Given the description of an element on the screen output the (x, y) to click on. 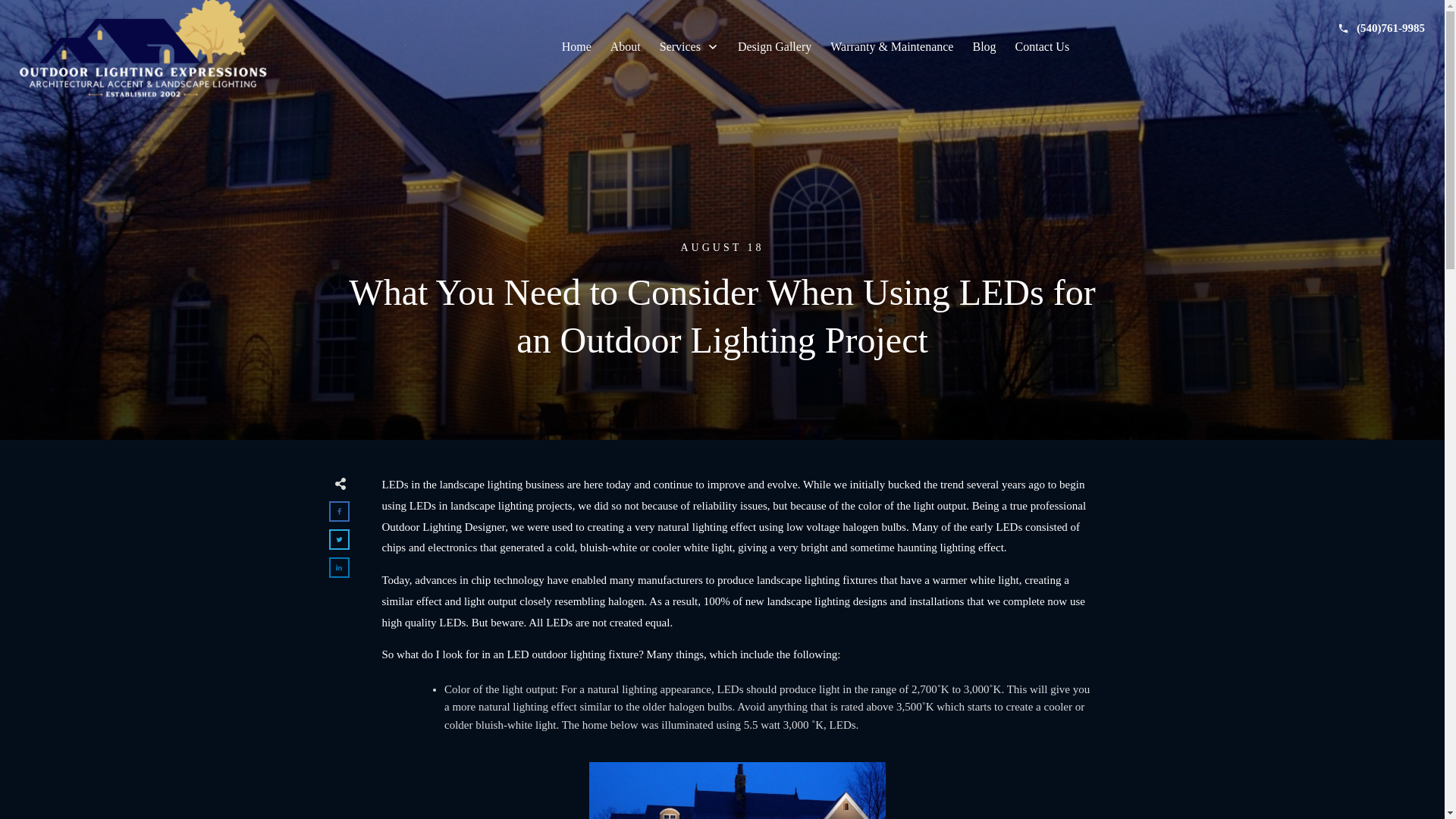
Contact Us (1042, 46)
Blog (983, 46)
Davenport House Demo Jan 9 2012 (737, 790)
Services (689, 46)
About (625, 46)
Home (576, 46)
Design Gallery (774, 46)
